Given the description of an element on the screen output the (x, y) to click on. 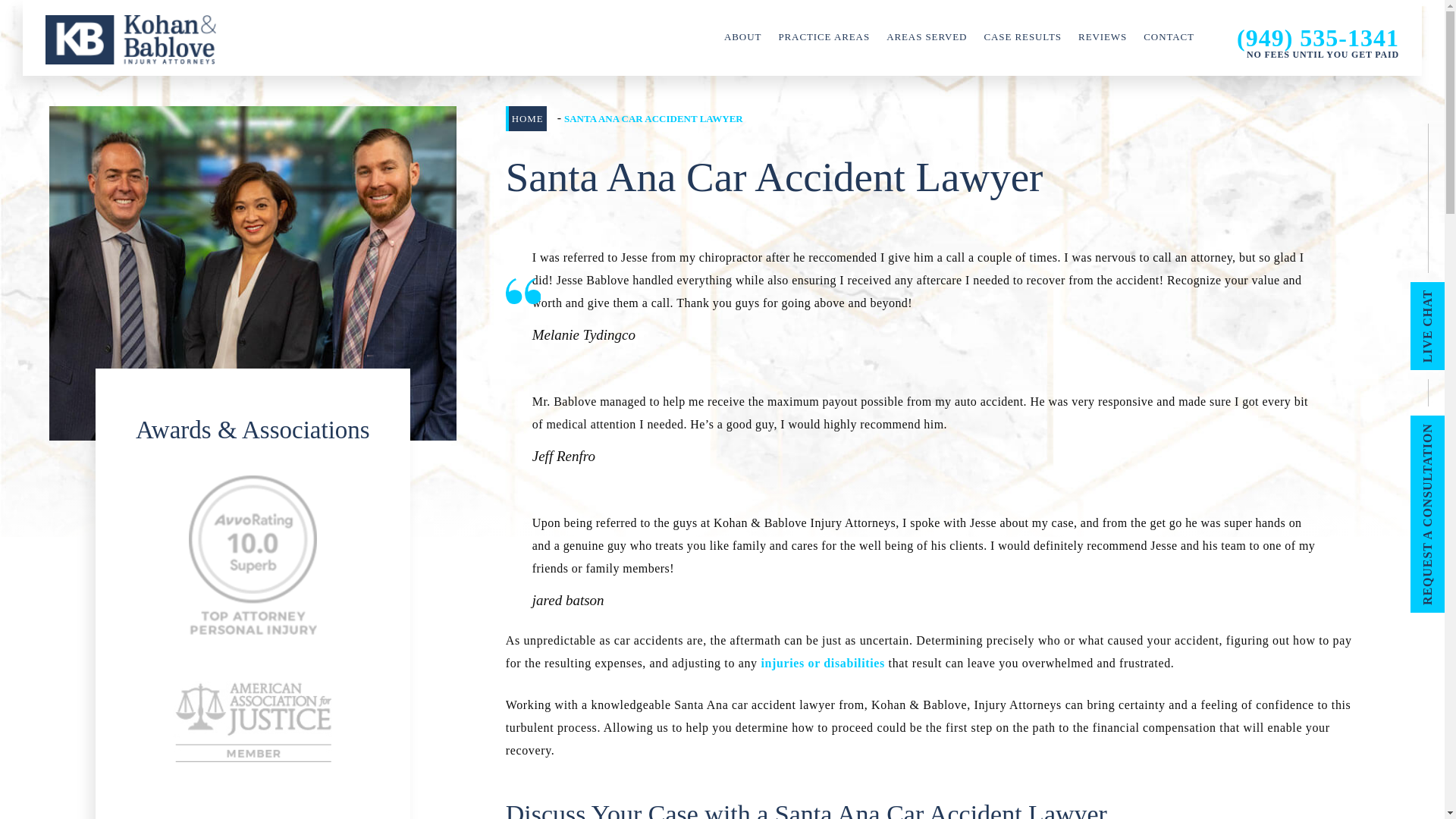
ABOUT (742, 38)
AREAS SERVED (926, 38)
PRACTICE AREAS (823, 38)
CONTACT (1167, 38)
CASE RESULTS (1022, 38)
HOME (526, 118)
REVIEWS (1102, 38)
